Given the description of an element on the screen output the (x, y) to click on. 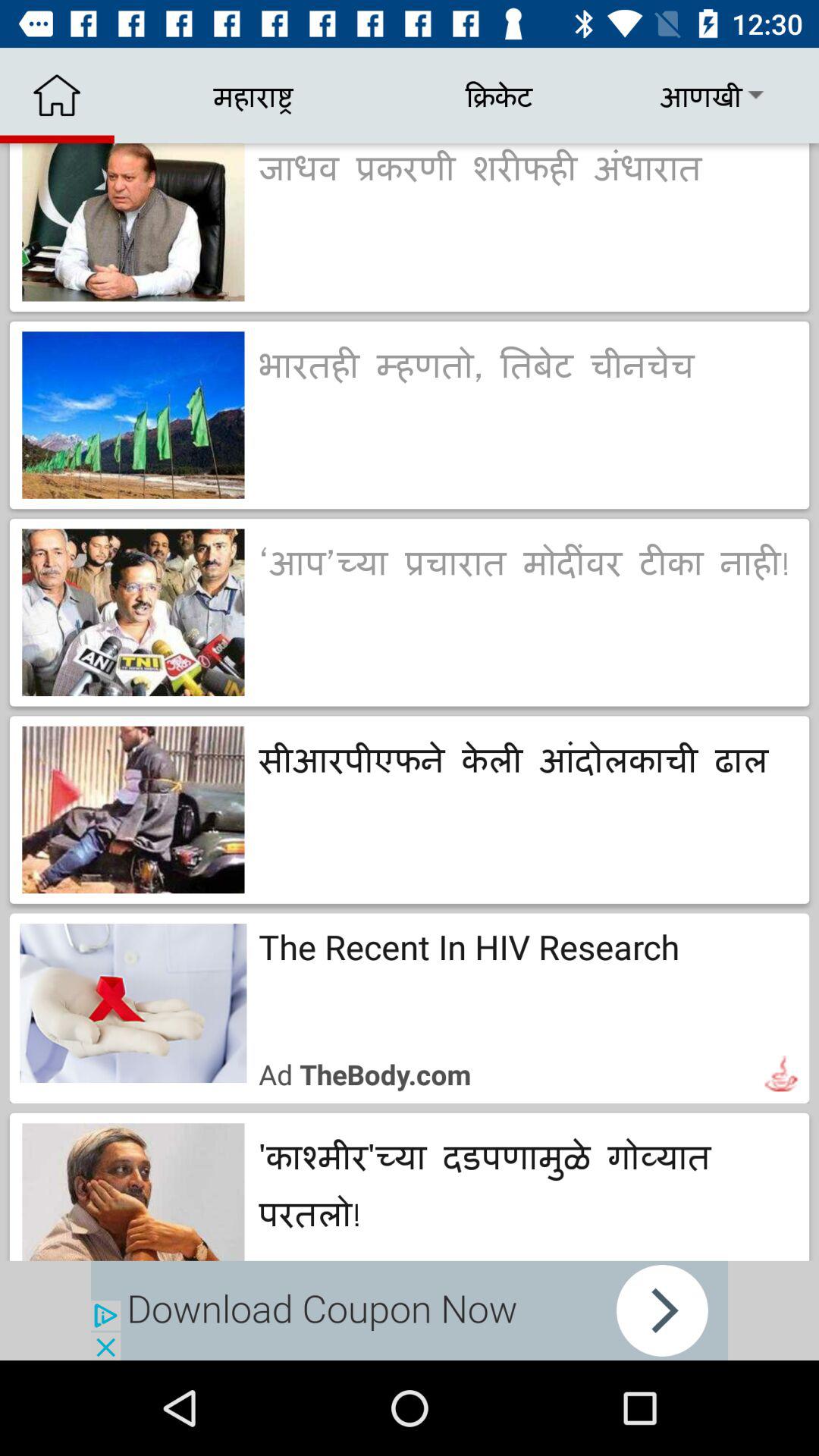
download (409, 1310)
